Given the description of an element on the screen output the (x, y) to click on. 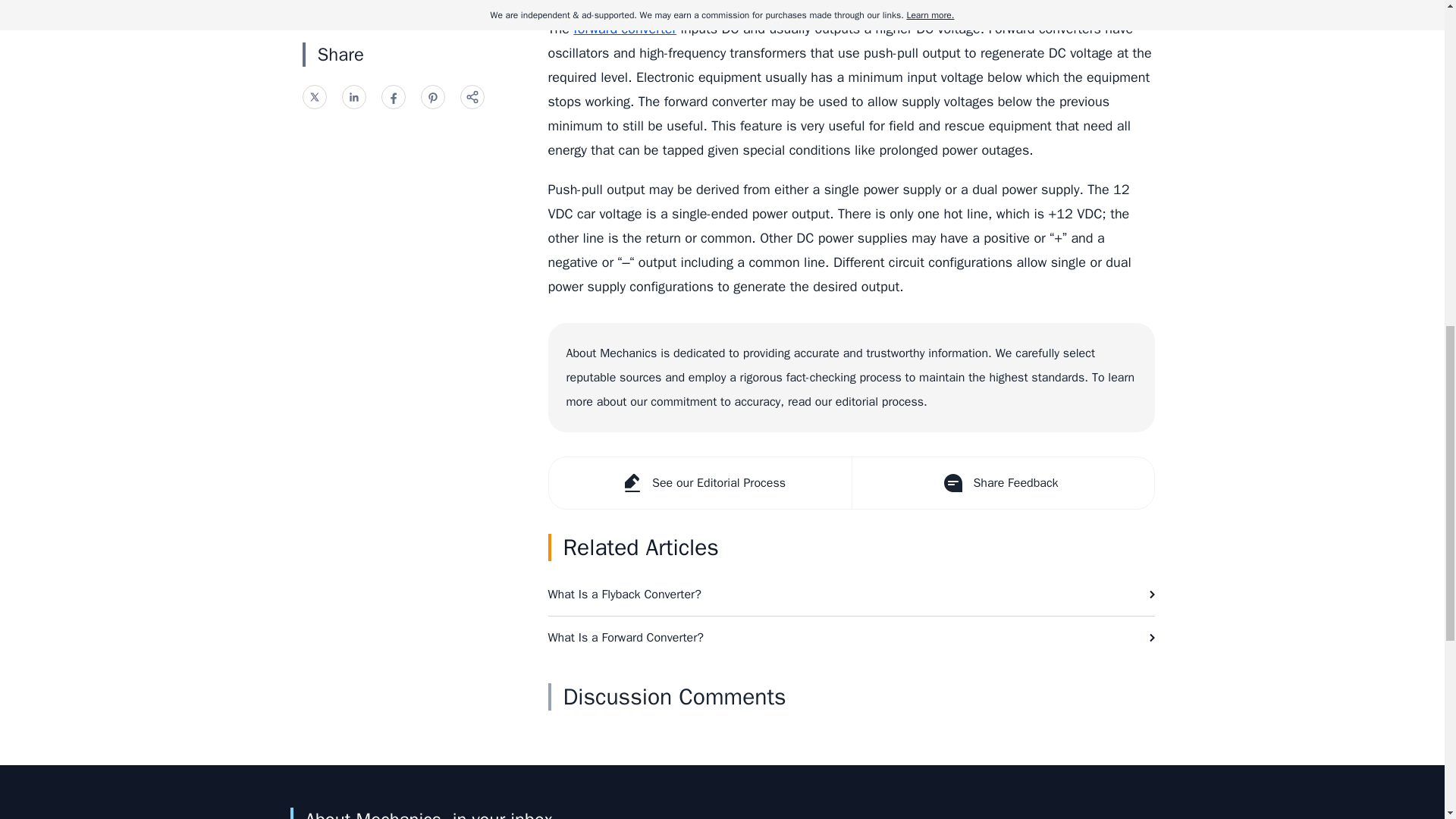
See our Editorial Process (699, 482)
forward converter (625, 28)
What Is a Flyback Converter? (850, 594)
Share Feedback (1001, 482)
